Given the description of an element on the screen output the (x, y) to click on. 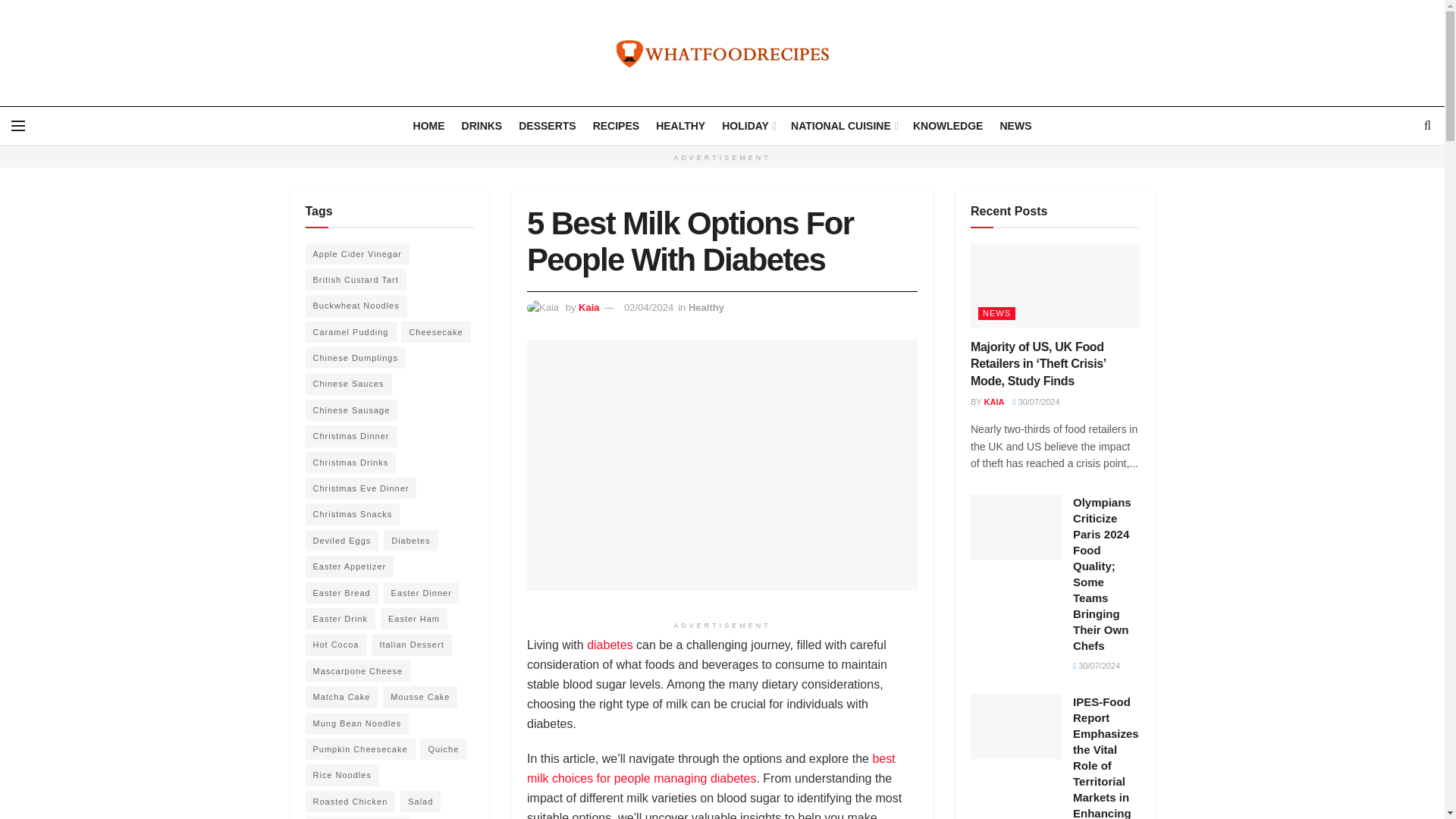
NEWS (1014, 125)
HEALTHY (680, 125)
HOLIDAY (748, 125)
HOME (429, 125)
DESSERTS (546, 125)
KNOWLEDGE (948, 125)
DRINKS (481, 125)
best milk choices for people managing diabetes (711, 768)
NATIONAL CUISINE (843, 125)
diabetes (609, 644)
RECIPES (615, 125)
Kaia (588, 307)
Healthy (705, 307)
